Given the description of an element on the screen output the (x, y) to click on. 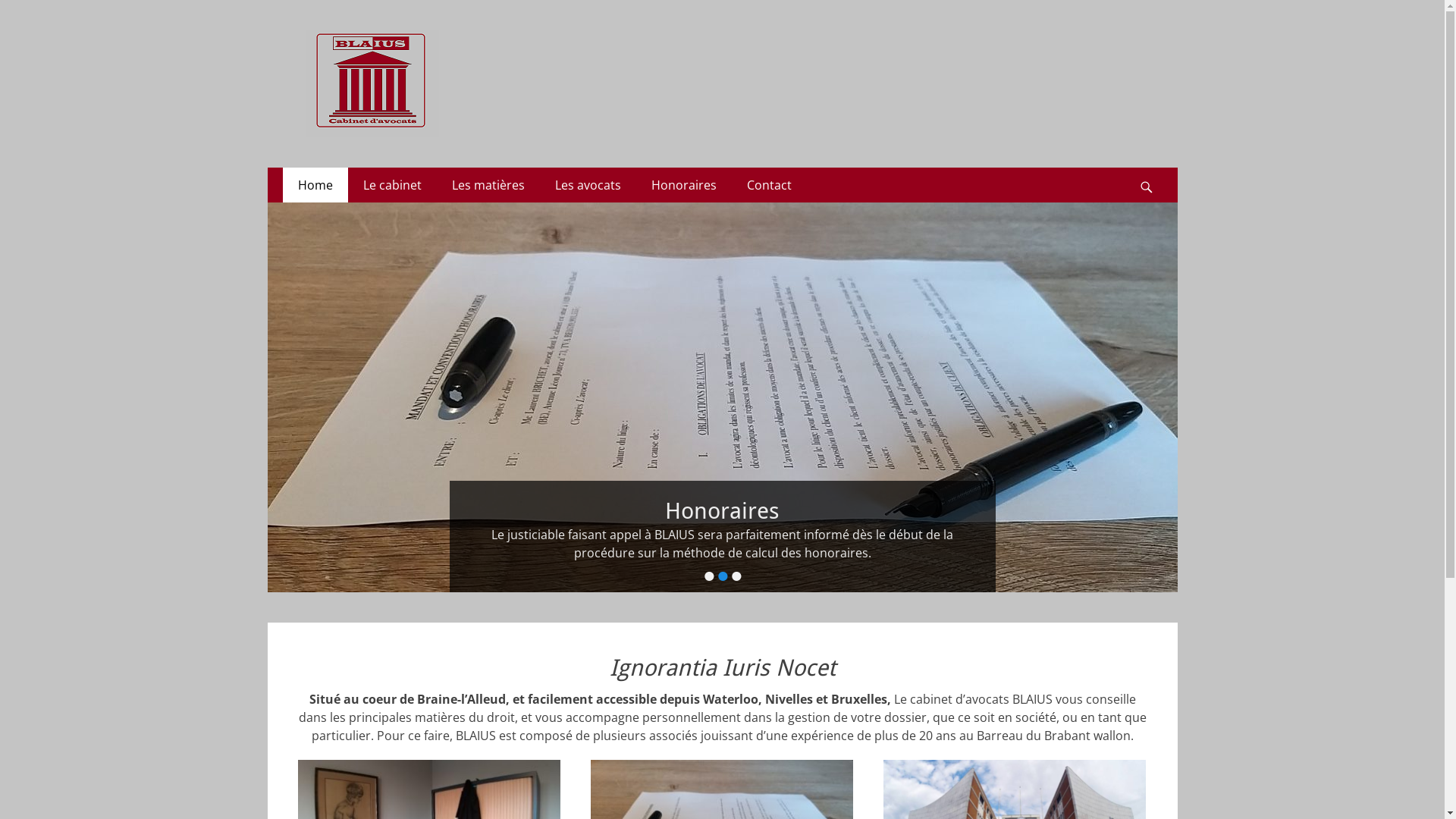
Search Element type: text (1154, 167)
admin6356 Element type: text (574, 534)
Home Element type: text (314, 184)
Contact Element type: text (768, 184)
Permalink to Honoraires Element type: hover (721, 397)
Le cabinet Element type: text (391, 184)
Honoraires Element type: text (683, 184)
Les avocats Element type: text (587, 184)
Honoraires Element type: text (722, 510)
Avocats - Braine l'alleud - Blaius Element type: text (519, 48)
